Given the description of an element on the screen output the (x, y) to click on. 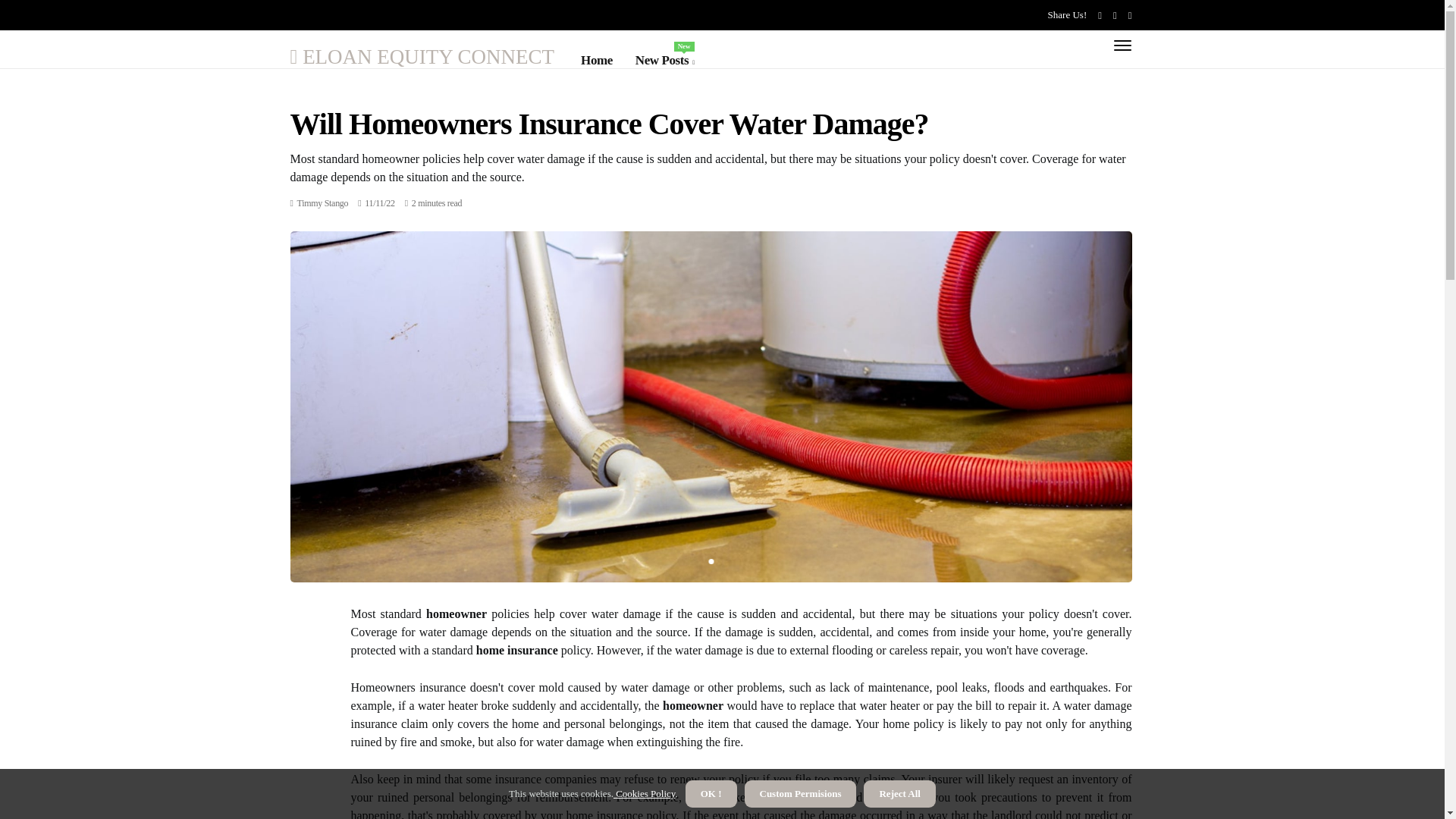
1 (710, 561)
Timmy Stango (323, 203)
ELOAN EQUITY CONNECT (664, 60)
Posts by Timmy Stango (421, 56)
